Given the description of an element on the screen output the (x, y) to click on. 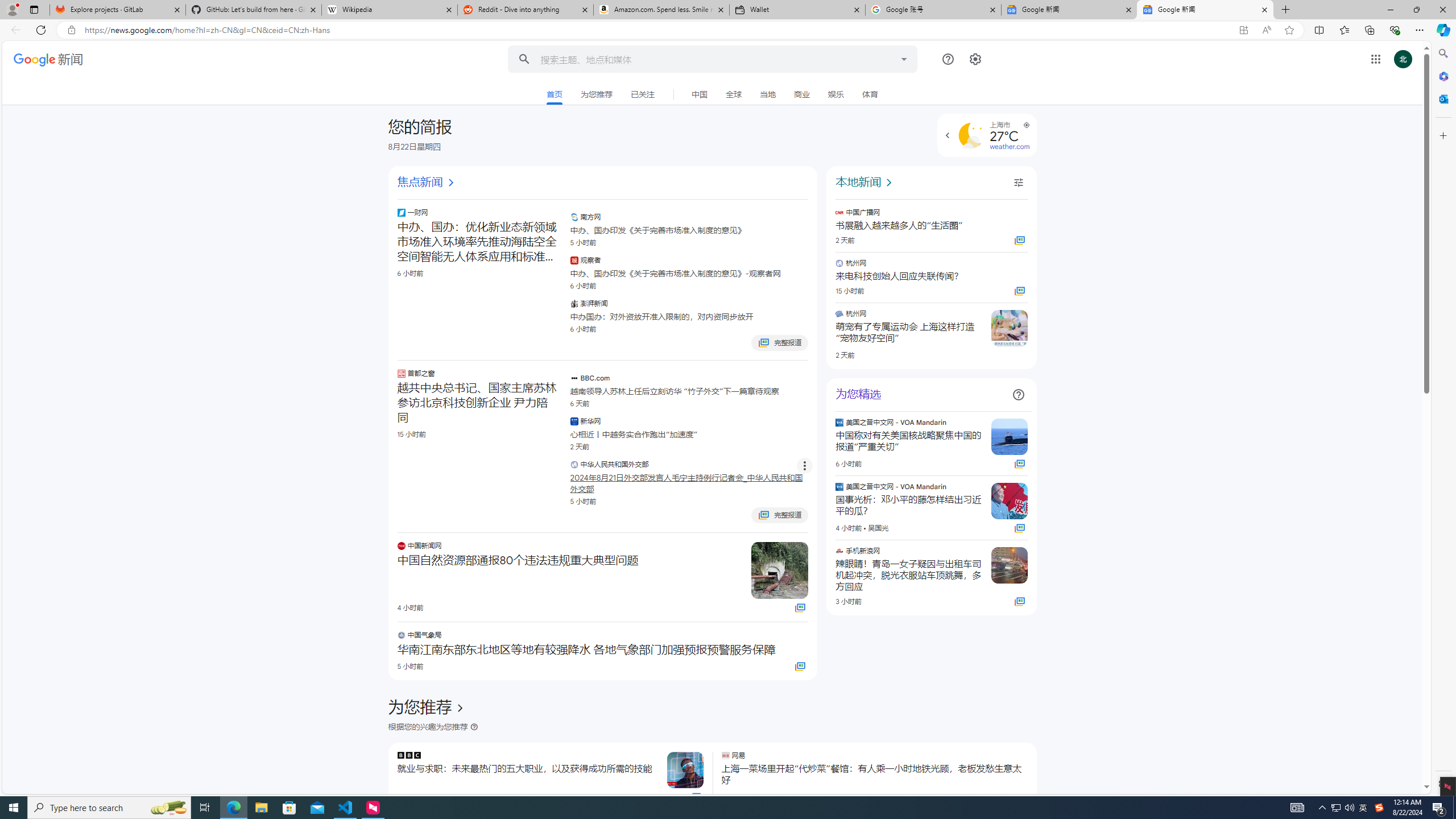
AutomationID: i40 (889, 182)
